Given the description of an element on the screen output the (x, y) to click on. 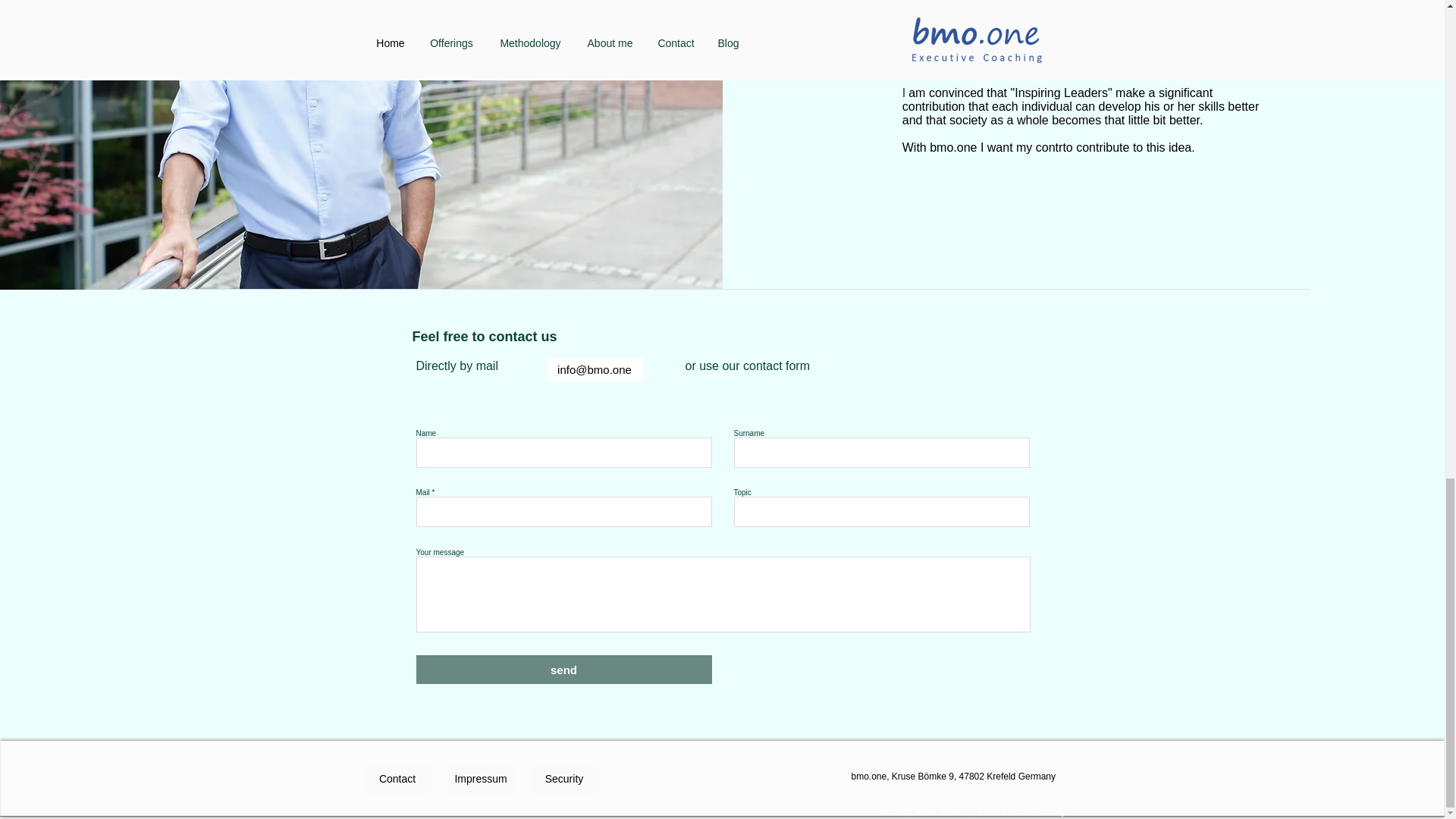
send (562, 669)
Impressum (480, 779)
Contact (397, 779)
Security (564, 779)
